Given the description of an element on the screen output the (x, y) to click on. 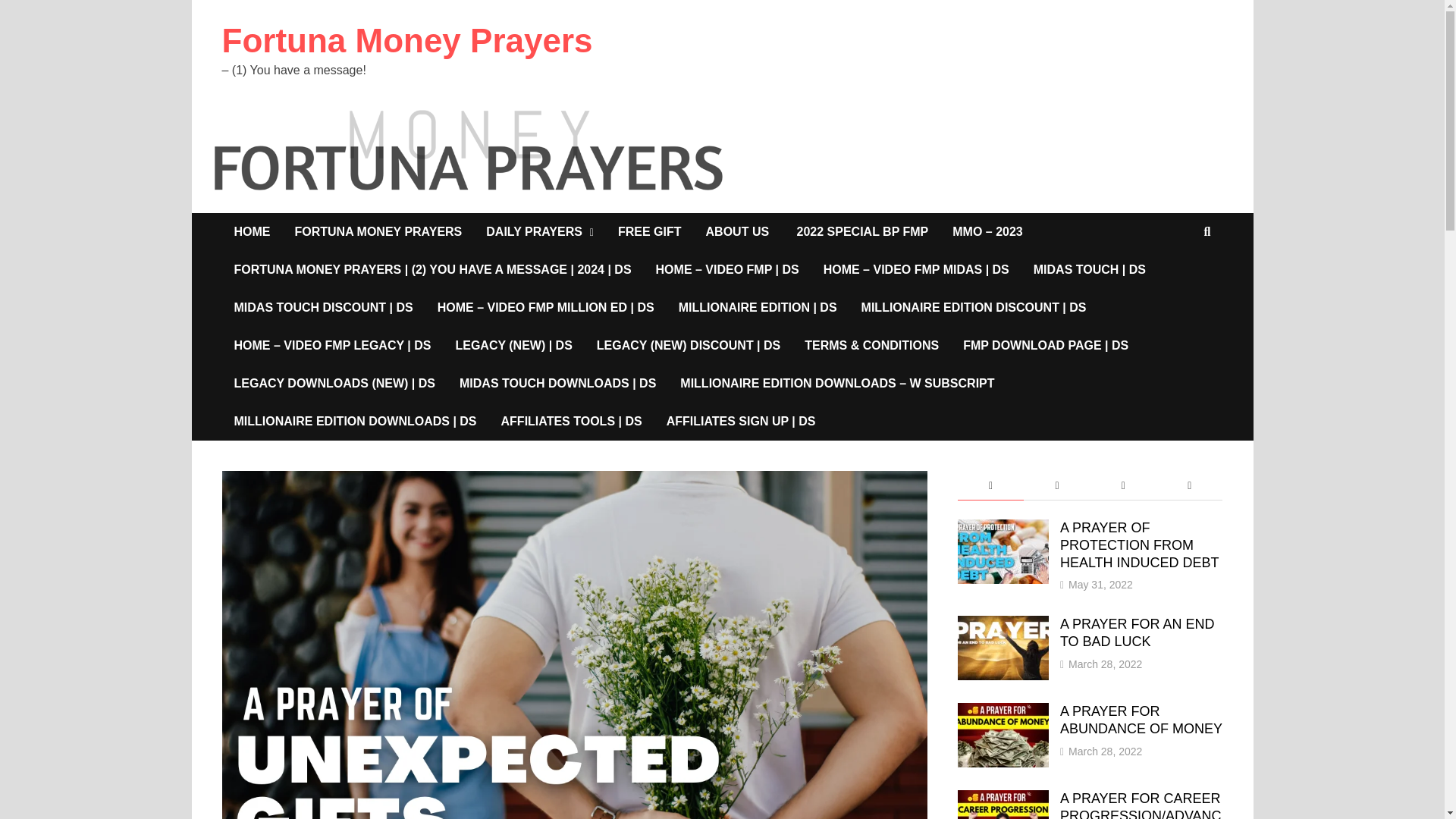
FREE GIFT (649, 231)
2022 SPECIAL BP FMP (862, 231)
A PRAYER OF PROTECTION FROM HEALTH INDUCED DEBT (1003, 529)
A PRAYER FOR AN END TO BAD LUCK (1003, 625)
DAILY PRAYERS (539, 231)
HOME (251, 231)
ABOUT US  (739, 231)
FORTUNA MONEY PRAYERS (378, 231)
A PRAYER FOR ABUNDANCE OF MONEY (1003, 712)
Fortuna Money Prayers (406, 40)
